Given the description of an element on the screen output the (x, y) to click on. 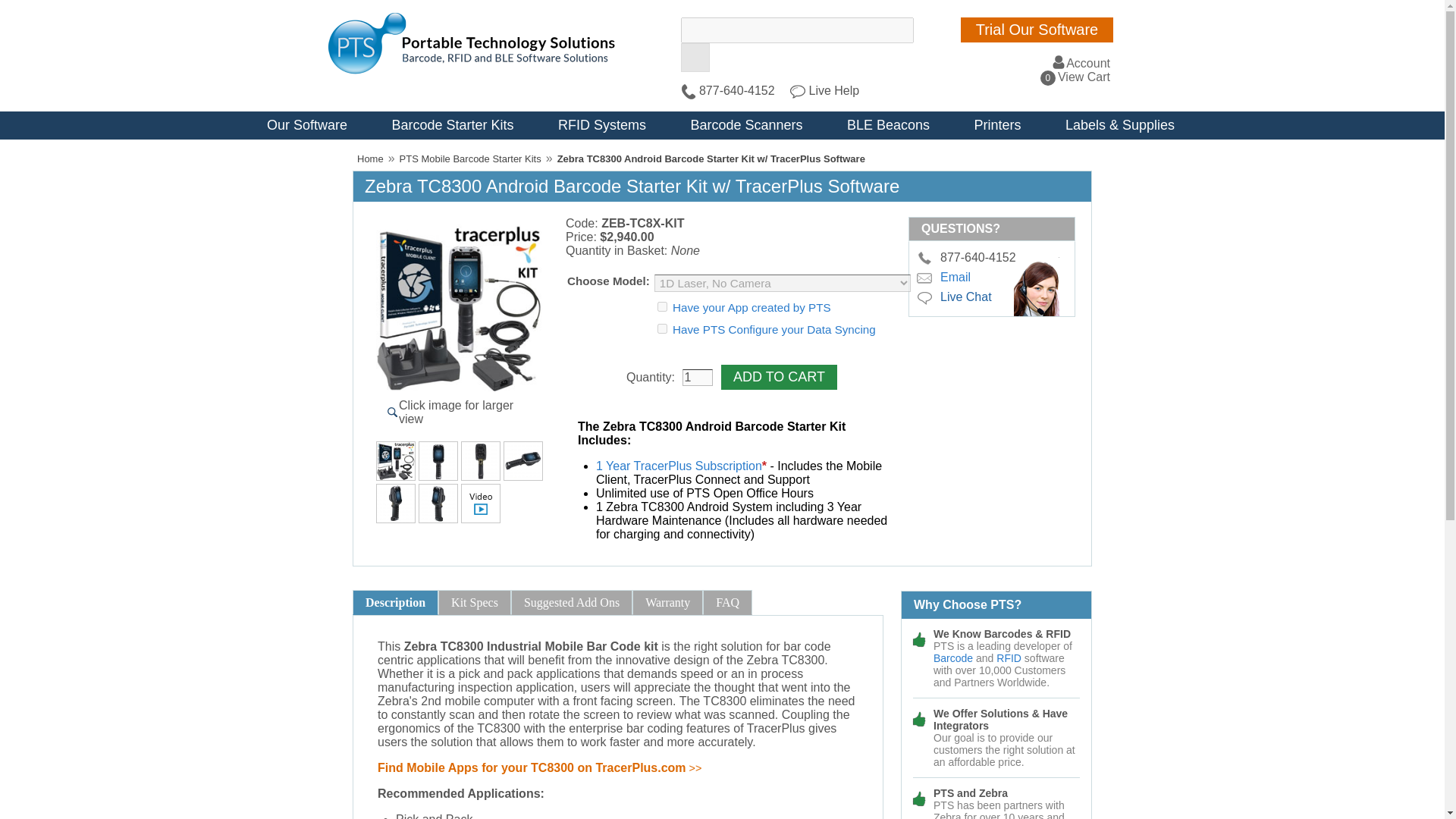
Live Help (824, 90)
RFID Systems (601, 125)
on (662, 328)
1 (697, 377)
on (662, 307)
Barcode Scanners (745, 125)
Call us at 1-877-640-4152 (924, 257)
Account (1080, 62)
Chat with a member of our team (924, 297)
TracerPlus; The Answer to Your Barcode Needs (480, 503)
Our Software (307, 125)
Trial Our Software (1075, 77)
